Given the description of an element on the screen output the (x, y) to click on. 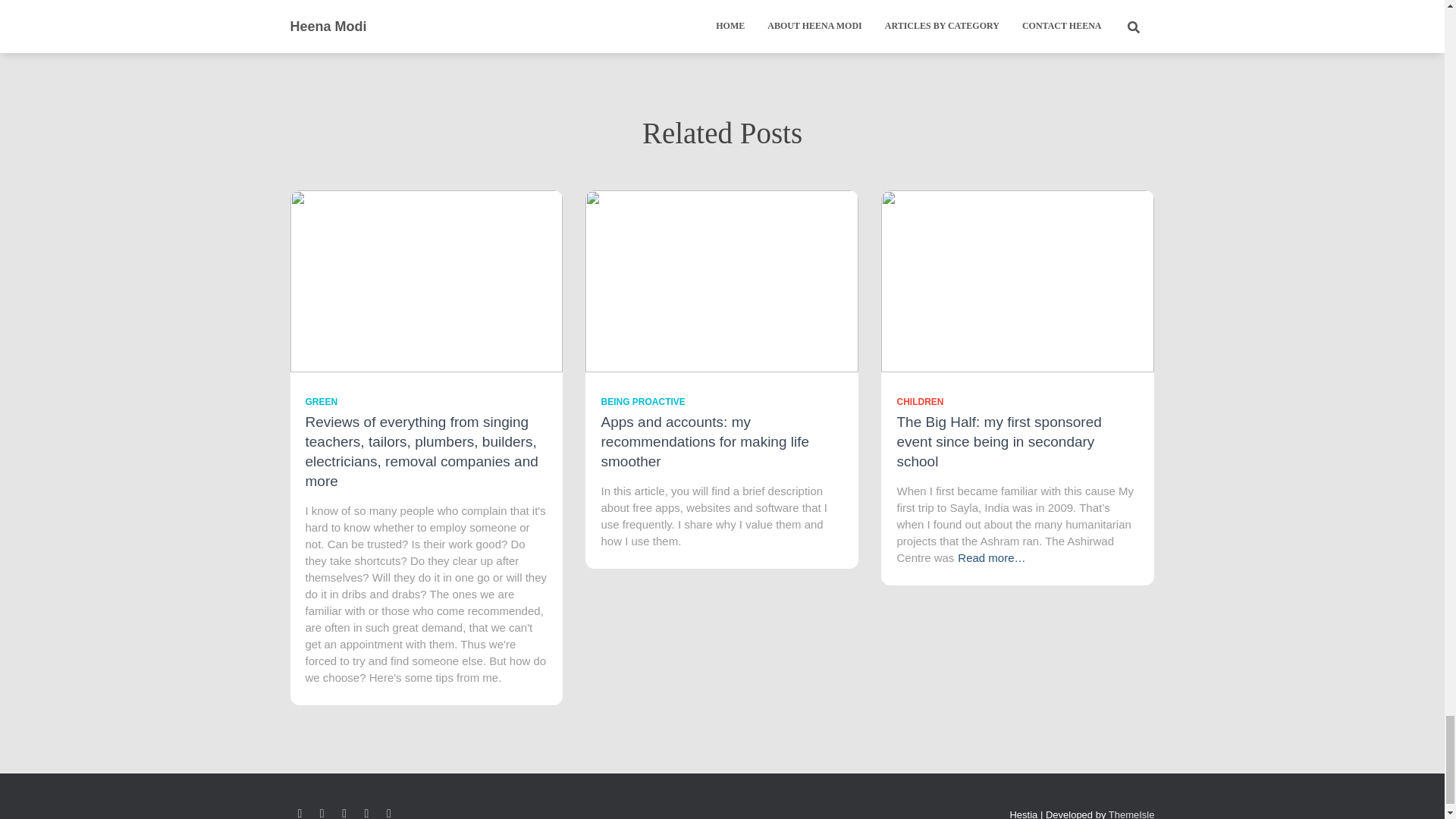
View all posts in Children (919, 401)
View all posts in Being proactive (641, 401)
View all posts in Green (320, 401)
